Given the description of an element on the screen output the (x, y) to click on. 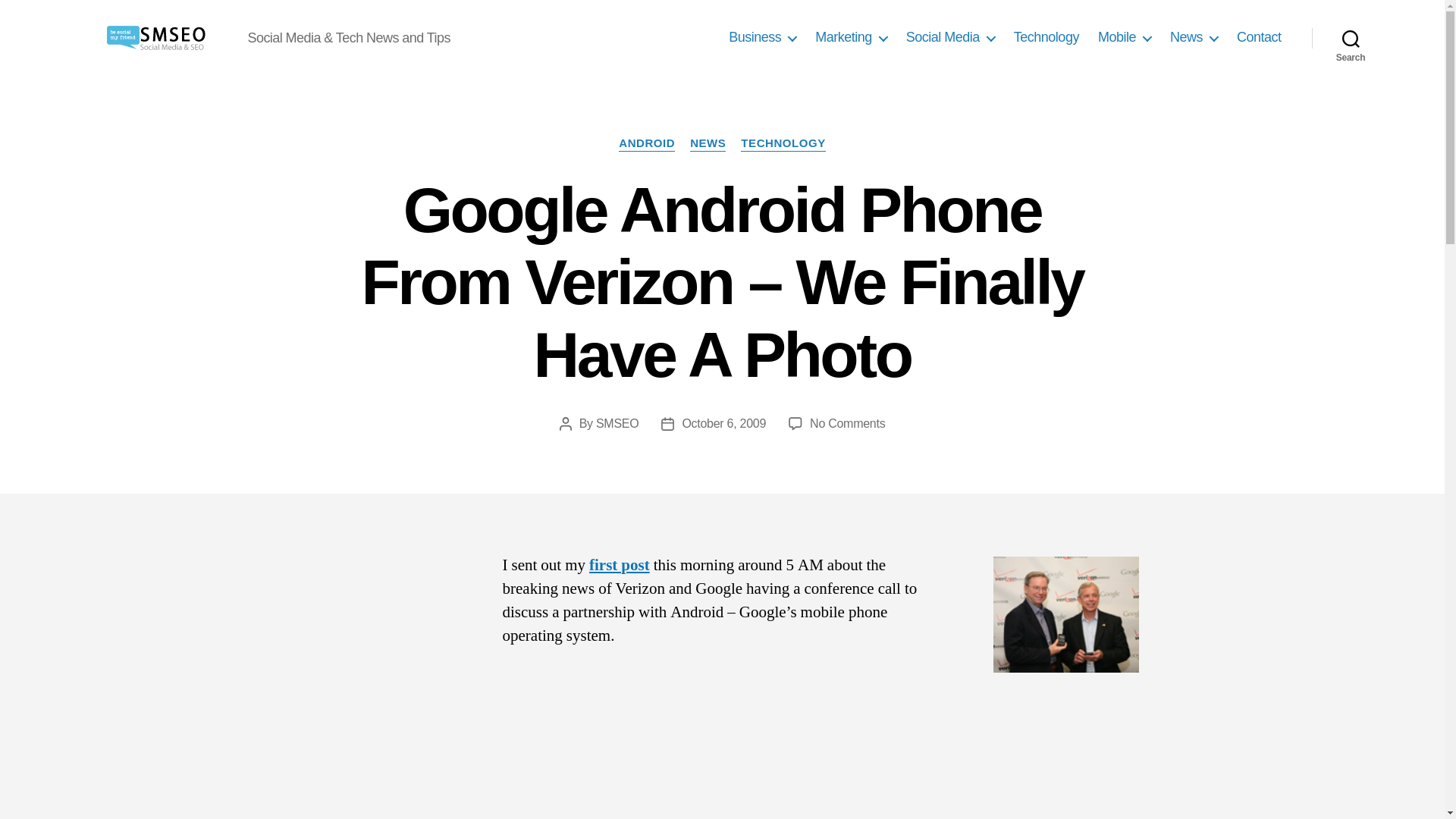
Social Media (949, 37)
Mobile (1124, 37)
News (1193, 37)
Advertisement (722, 743)
Search (1350, 37)
Marketing (850, 37)
Business (762, 37)
Google-Verizon-Eric-Shmidt (1065, 614)
Contact (1258, 37)
Technology (1045, 37)
